Given the description of an element on the screen output the (x, y) to click on. 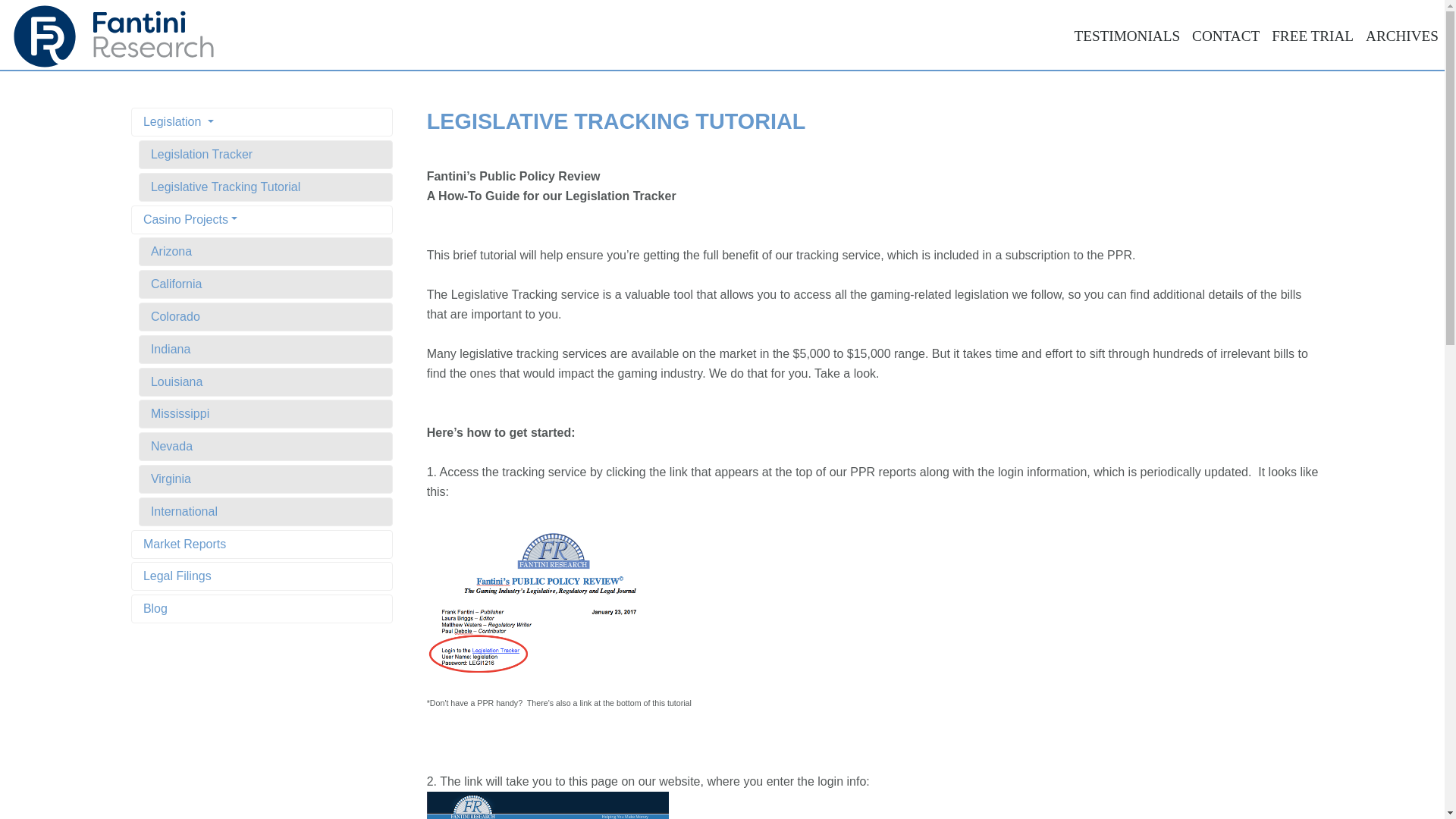
Colorado (265, 316)
Legal Filings (262, 575)
Arizona (265, 251)
FREE TRIAL (1312, 36)
TESTIMONIALS (1126, 36)
Louisiana (265, 381)
Legislative Tracking Tutorial (265, 186)
Blog (262, 608)
Mississippi (265, 413)
International (265, 511)
